Given the description of an element on the screen output the (x, y) to click on. 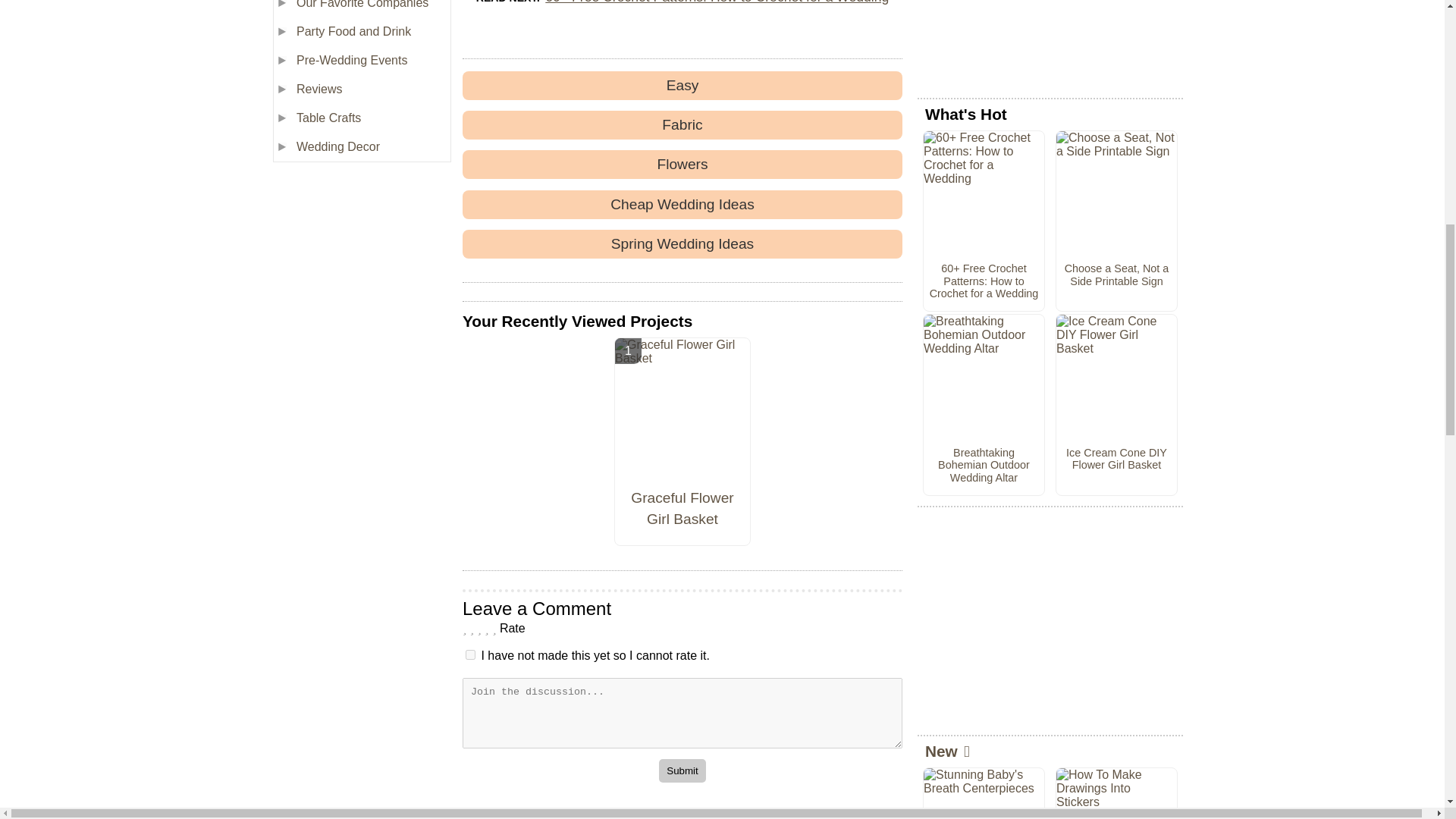
1 (470, 655)
Submit (681, 770)
